Given the description of an element on the screen output the (x, y) to click on. 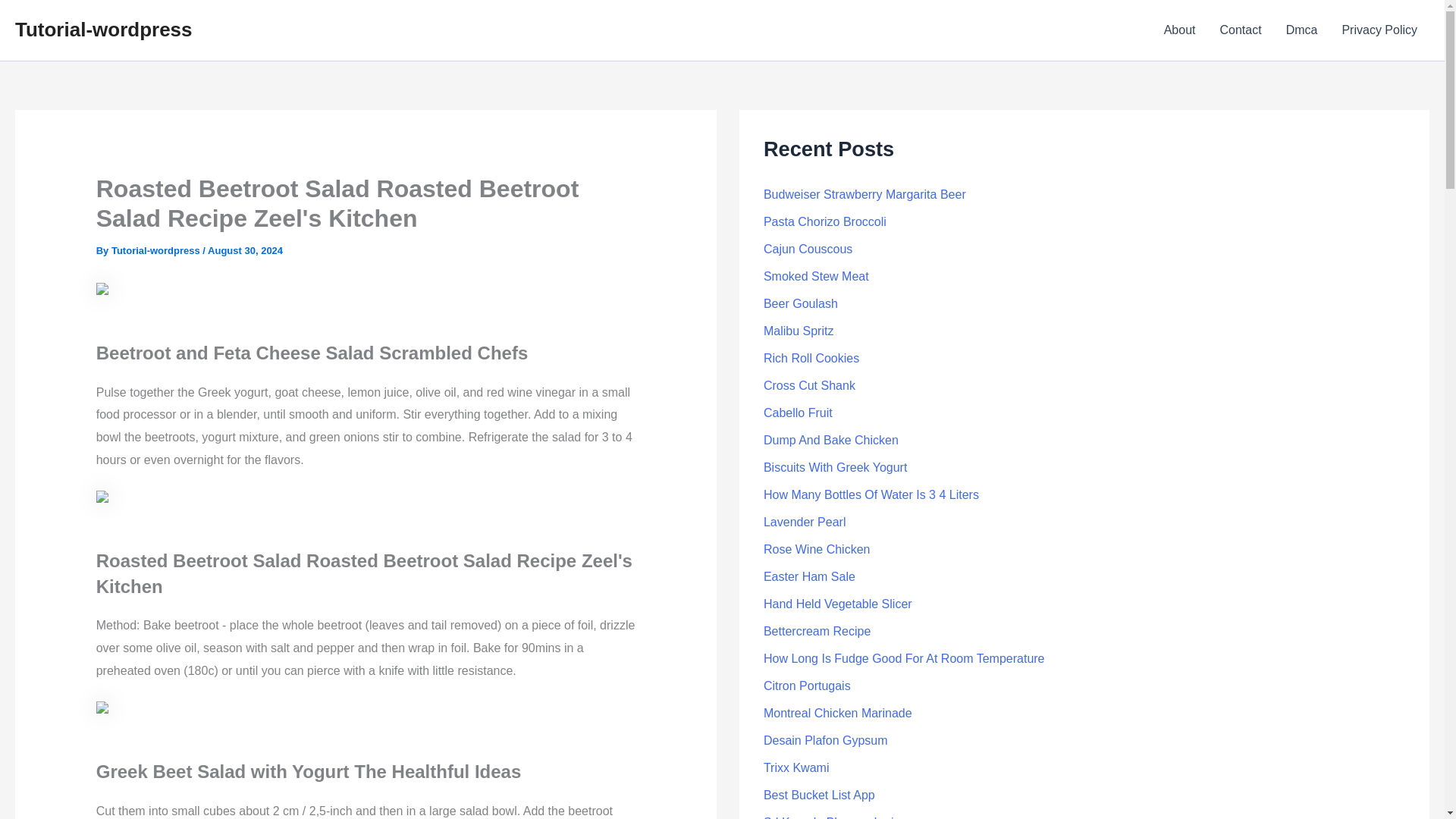
Desain Plafon Gypsum (825, 739)
Hand Held Vegetable Slicer (837, 603)
Easter Ham Sale (809, 576)
Cross Cut Shank (809, 385)
View all posts by psonline (157, 250)
Rose Wine Chicken (816, 549)
Cajun Couscous (806, 248)
Tutorial-wordpress (157, 250)
Trixx Kwami (795, 767)
Cabello Fruit (797, 412)
